Given the description of an element on the screen output the (x, y) to click on. 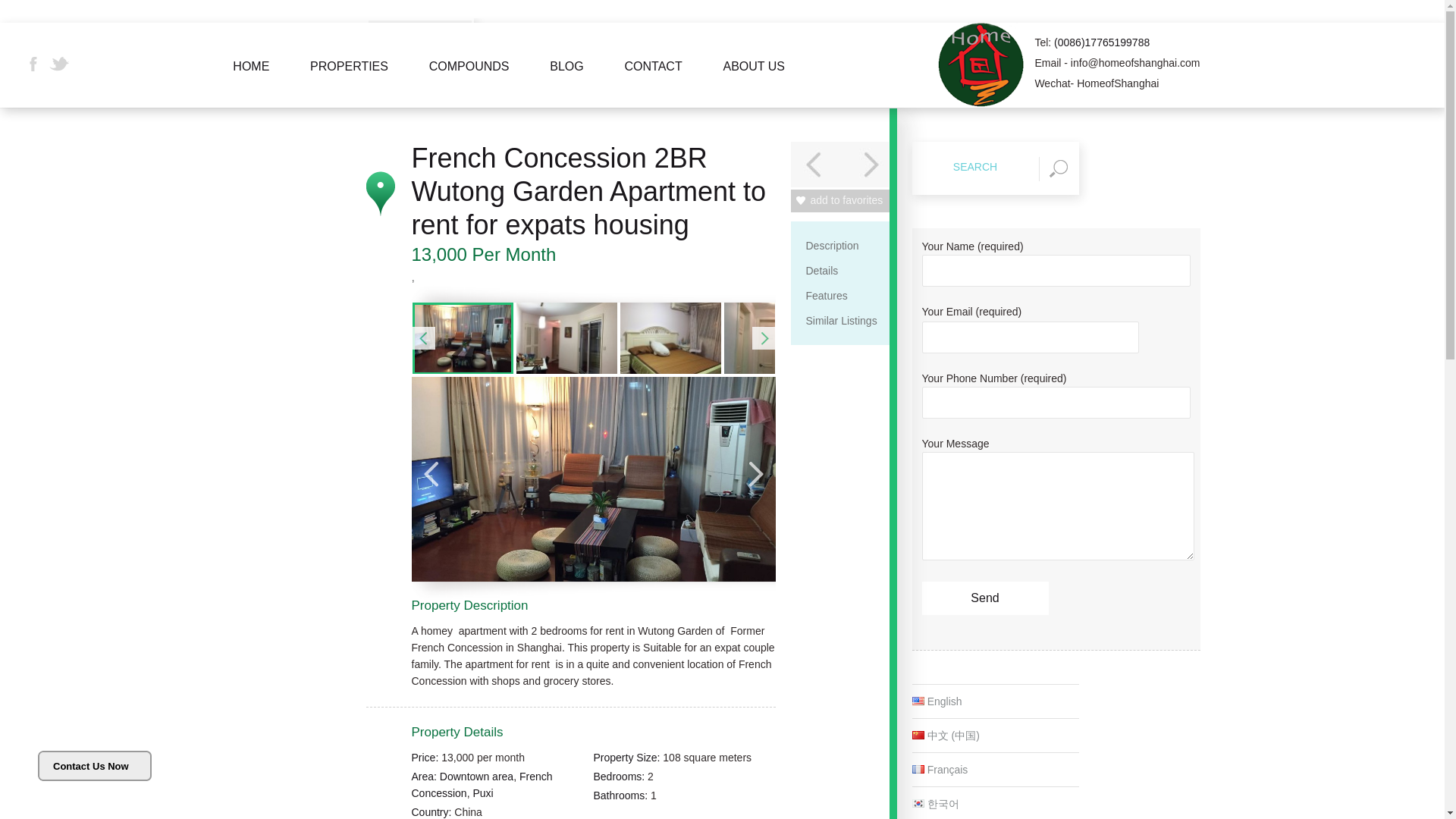
CONTACT (653, 83)
Send (984, 598)
BLOG (566, 83)
Search (974, 166)
HOME (250, 83)
ABOUT US (753, 83)
COMPOUNDS (468, 83)
PROPERTIES (349, 83)
